Given the description of an element on the screen output the (x, y) to click on. 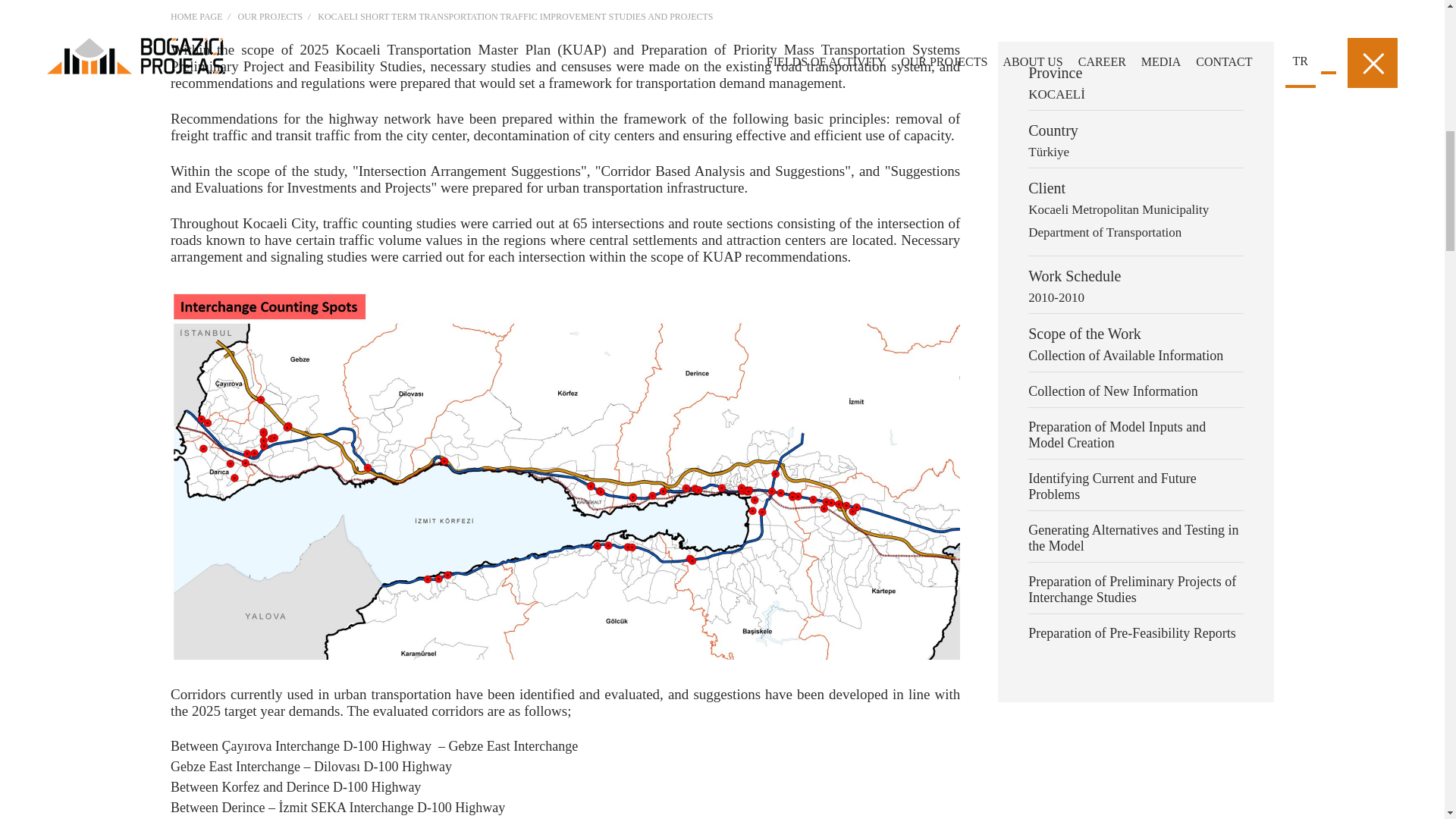
OUR PROJECTS (270, 16)
HOME PAGE (200, 16)
